Given the description of an element on the screen output the (x, y) to click on. 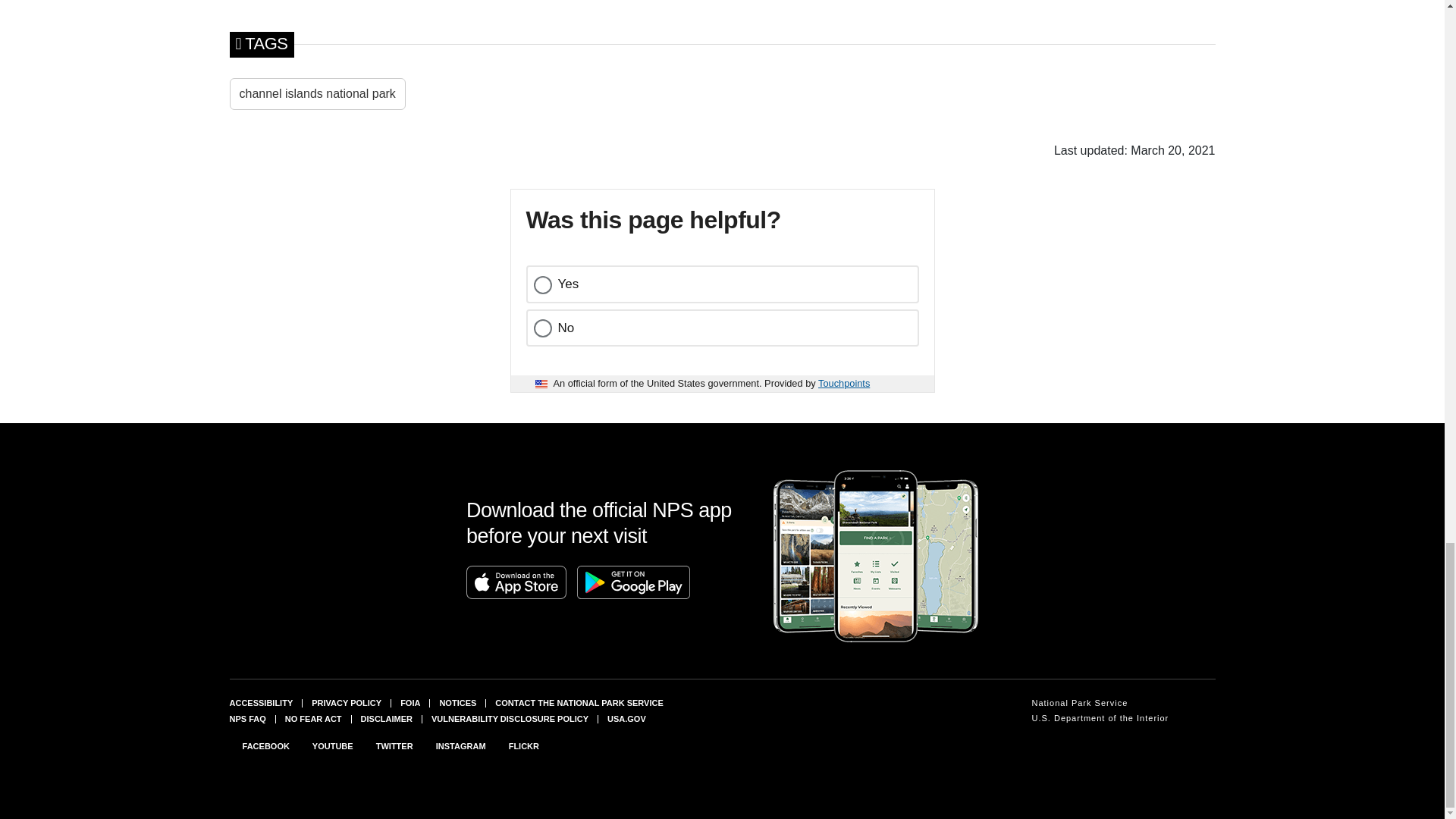
National Park Service frequently asked questions (246, 718)
